Given the description of an element on the screen output the (x, y) to click on. 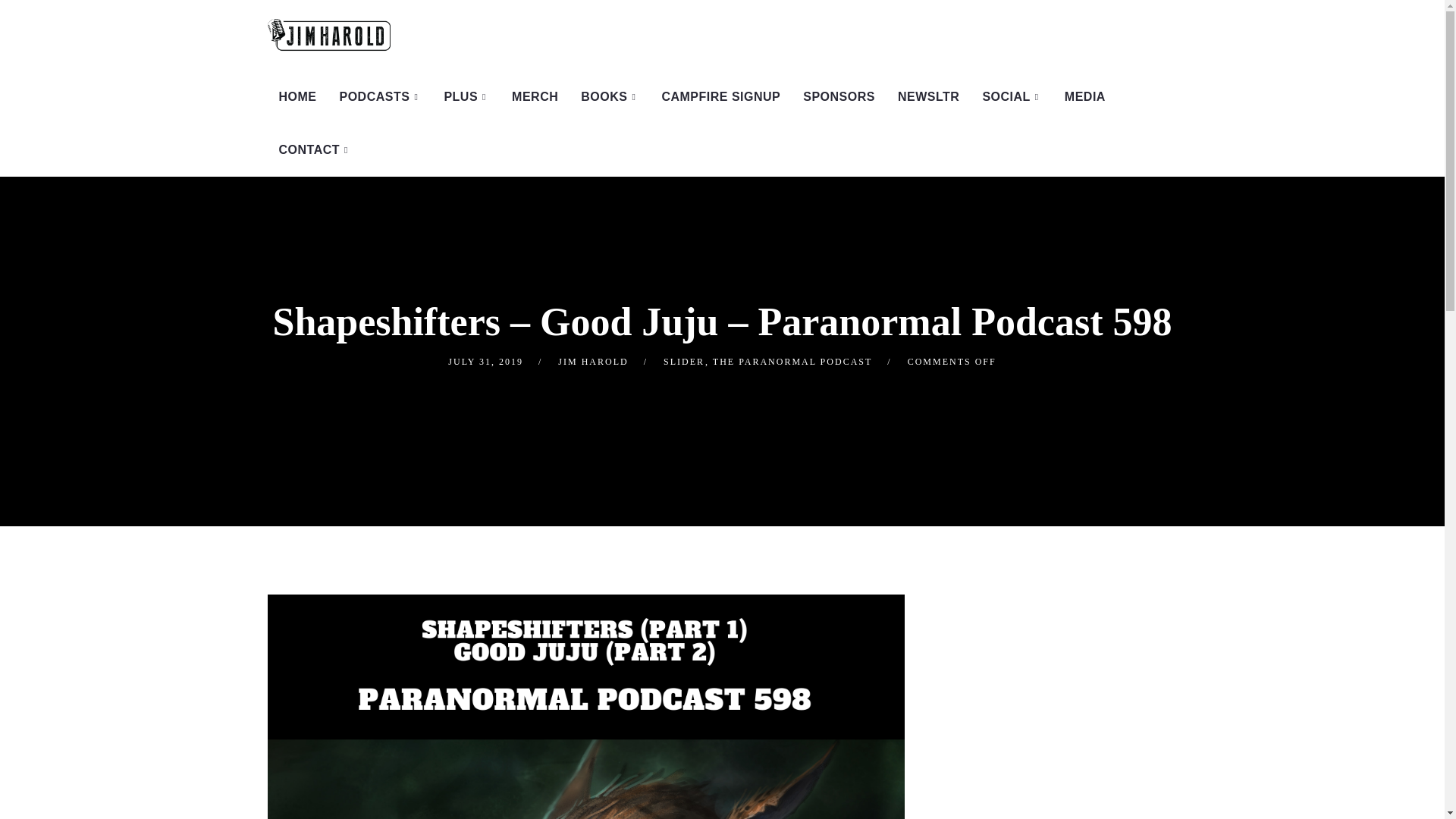
CAMPFIRE SIGNUP (720, 96)
HOME (296, 96)
MERCH (534, 96)
BOOKS (609, 96)
SOCIAL (1011, 96)
SPONSORS (839, 96)
PODCASTS (379, 96)
CONTACT (314, 149)
PLUS (466, 96)
NEWSLTR (928, 96)
JimHarold.com (328, 35)
MEDIA (1084, 96)
